Given the description of an element on the screen output the (x, y) to click on. 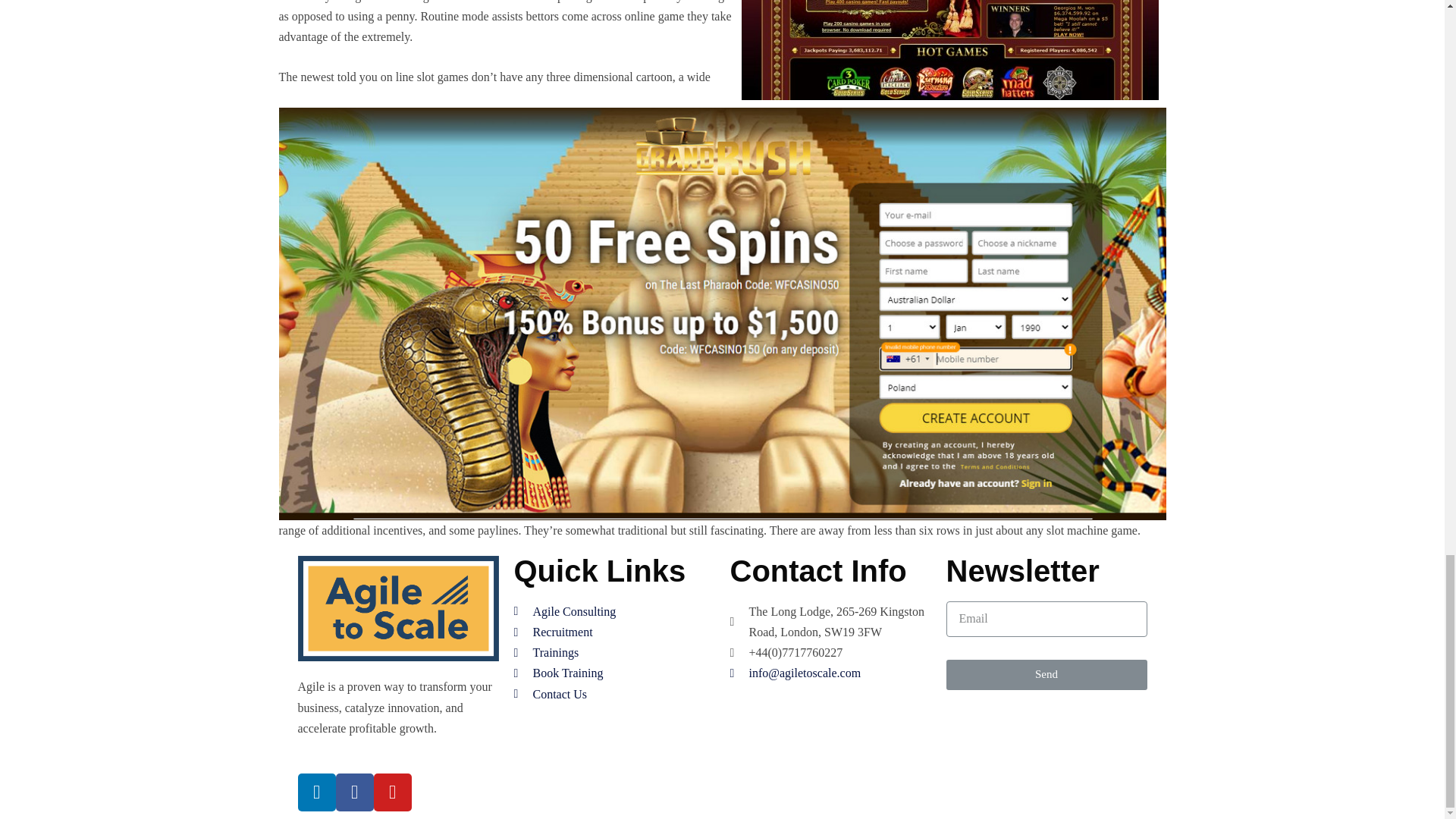
Contact Us (613, 693)
Trainings (613, 652)
Book Training (613, 672)
Agile Consulting (613, 611)
Send (1046, 675)
Agile to Scale Logo Final (397, 608)
Recruitment (613, 631)
